Given the description of an element on the screen output the (x, y) to click on. 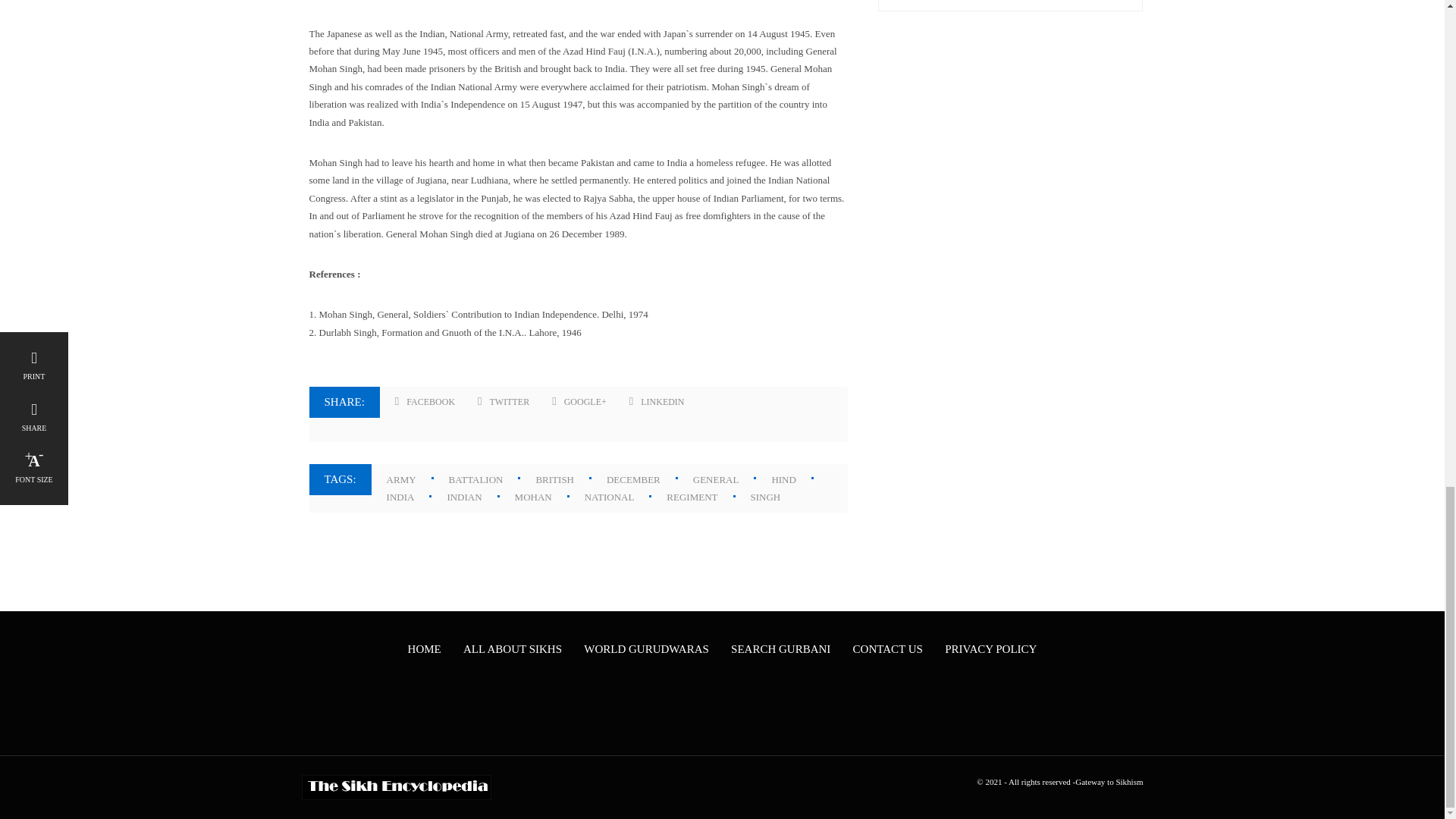
The Sikh Encyclopedia (396, 787)
Share toLinkedin (656, 402)
Share toFacebook (424, 402)
Share toTwitter (503, 402)
